Given the description of an element on the screen output the (x, y) to click on. 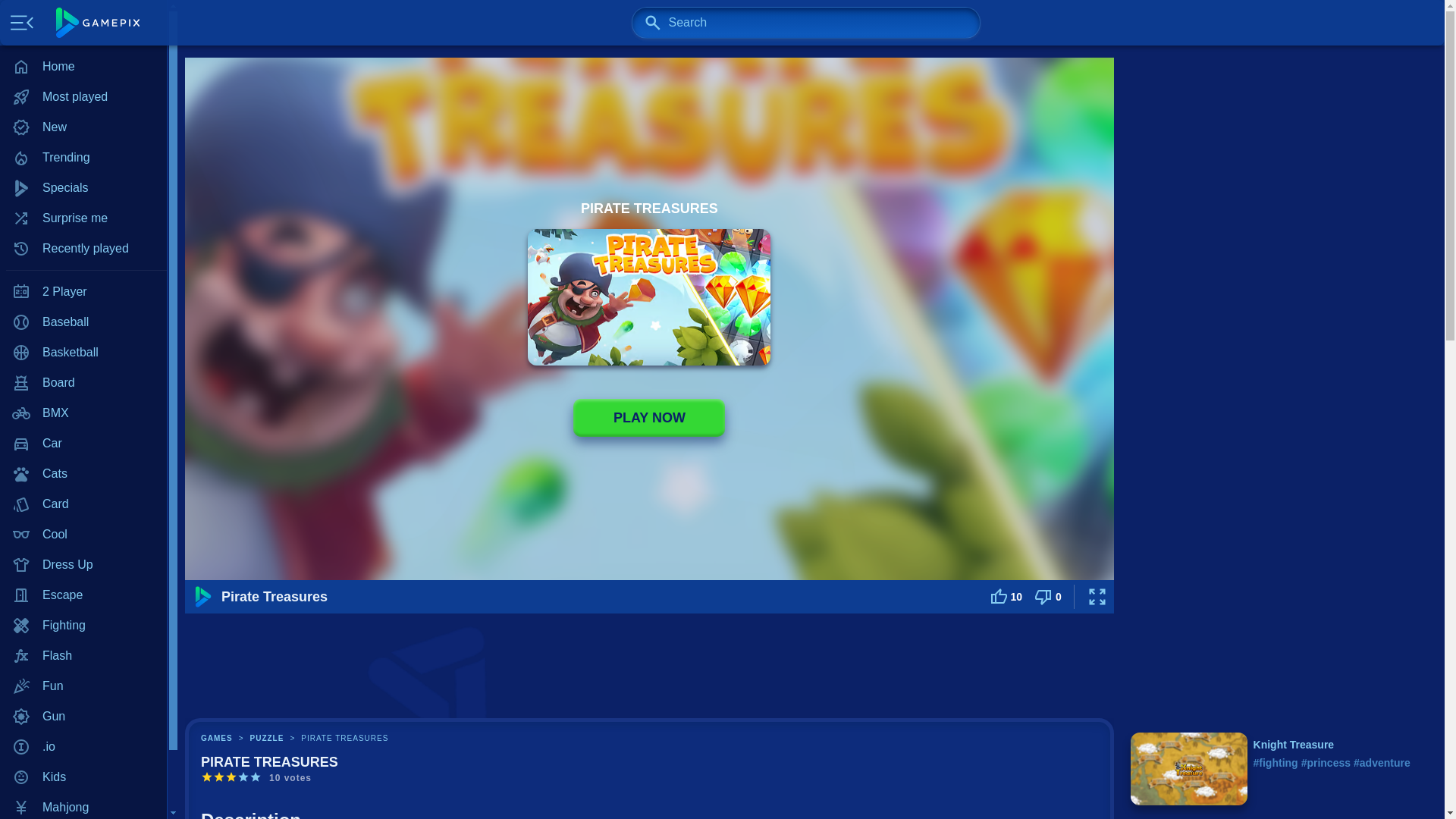
Cats (83, 473)
Cats (83, 473)
Cool (83, 534)
Home (83, 66)
Baseball (83, 322)
Cool (83, 534)
Fighting (83, 625)
New (83, 127)
Specials (83, 187)
Card (83, 503)
